Given the description of an element on the screen output the (x, y) to click on. 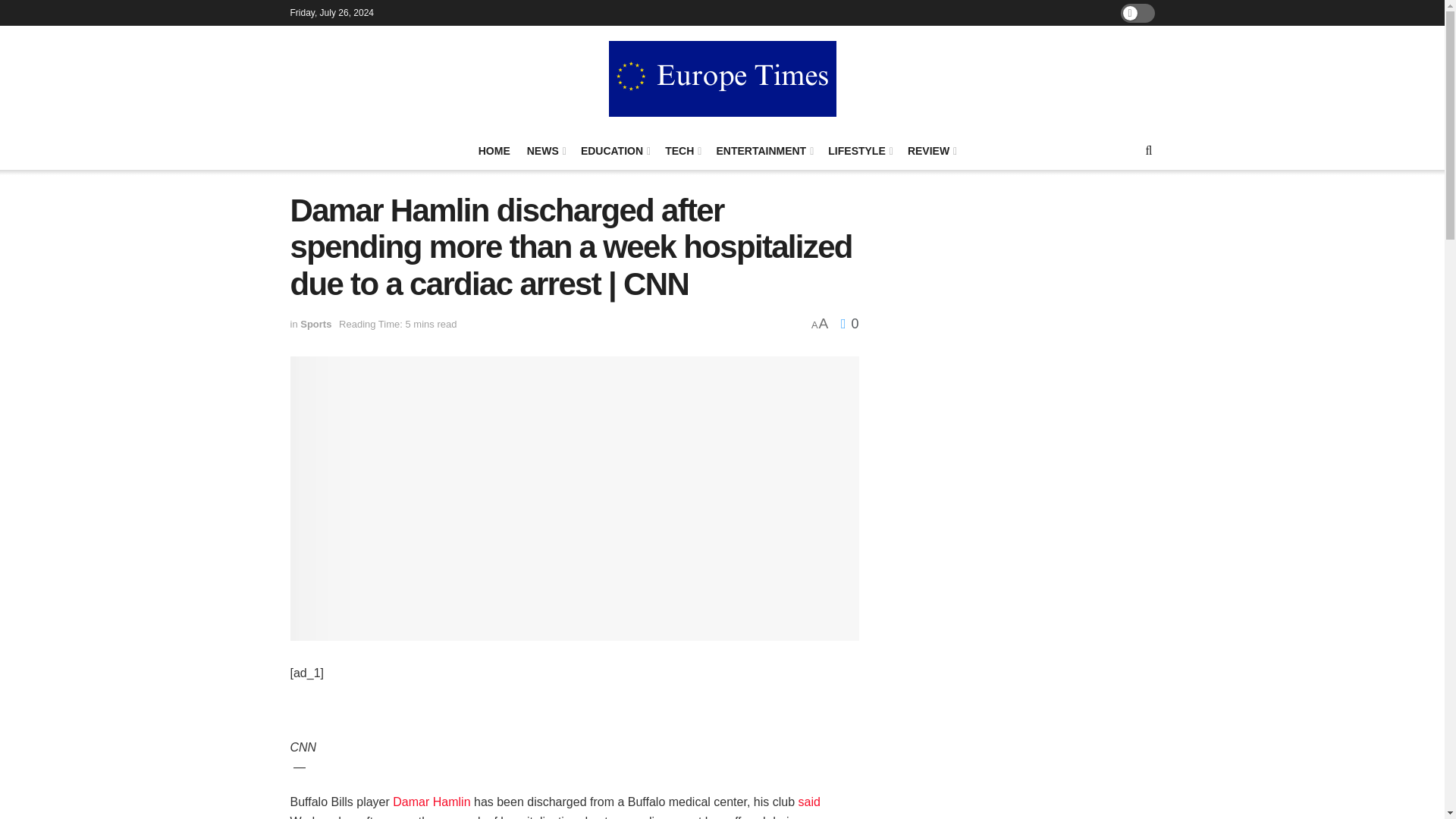
TECH (681, 150)
EDUCATION (613, 150)
HOME (495, 150)
NEWS (545, 150)
